Given the description of an element on the screen output the (x, y) to click on. 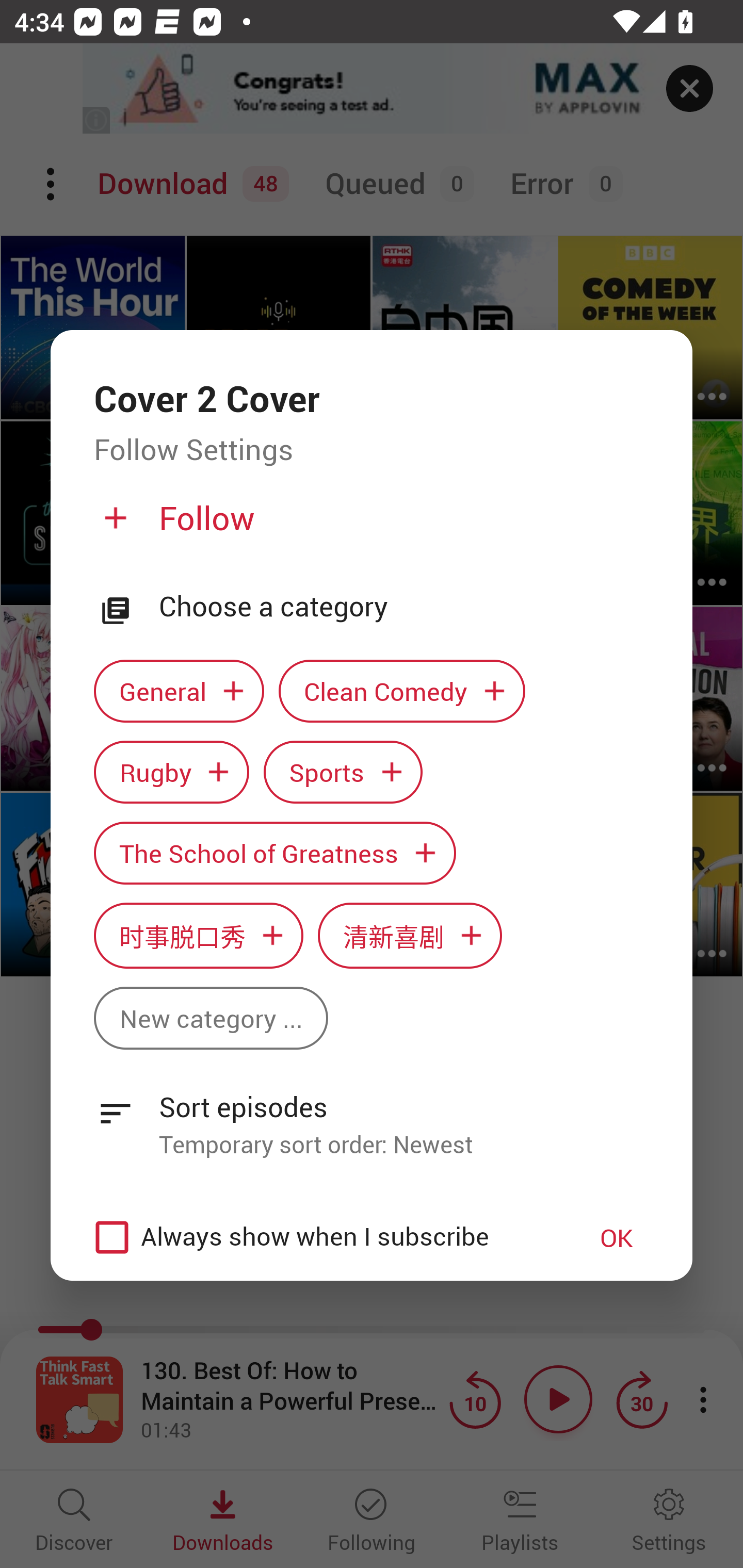
Follow (369, 525)
Choose a category (404, 606)
General (178, 691)
Clean Comedy (401, 691)
Rugby (170, 771)
Sports (342, 771)
The School of Greatness (274, 852)
时事脱口秀 (198, 936)
清新喜剧 (410, 936)
New category ... (210, 1017)
Sort episodes Temporary sort order: Newest (371, 1114)
OK (616, 1237)
Always show when I subscribe (320, 1237)
